Given the description of an element on the screen output the (x, y) to click on. 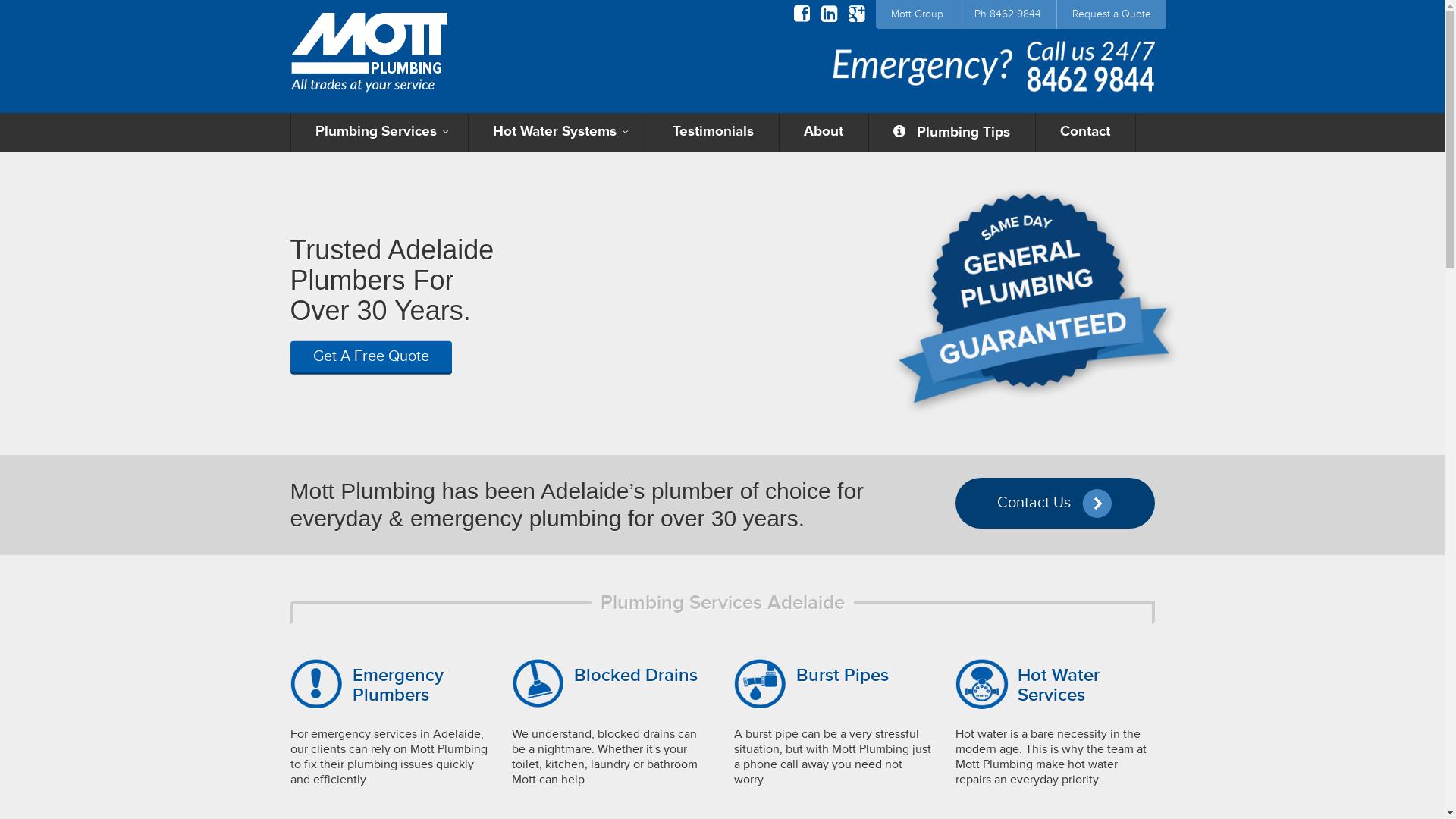
Hot Water Services Element type: text (1058, 685)
Contact Us Element type: text (1054, 502)
About Element type: text (823, 131)
Get A Free Quote Element type: text (370, 356)
Emergency Plumbers Element type: text (396, 685)
Plumbing Services Element type: text (379, 131)
Hot Water Systems Element type: text (557, 131)
Testimonials Element type: text (712, 131)
Mott Plumbing Adelaide Element type: hover (368, 56)
Burst Pipes Element type: text (842, 675)
Request a Quote Element type: text (1111, 14)
Contact Element type: text (1085, 131)
Mott Group Element type: text (916, 14)
  Plumbing Tips Element type: text (952, 131)
Plumbing Services Adelaide Element type: text (722, 602)
Blocked Drains Element type: text (635, 675)
Ph 8462 9844 Element type: text (1006, 14)
